Given the description of an element on the screen output the (x, y) to click on. 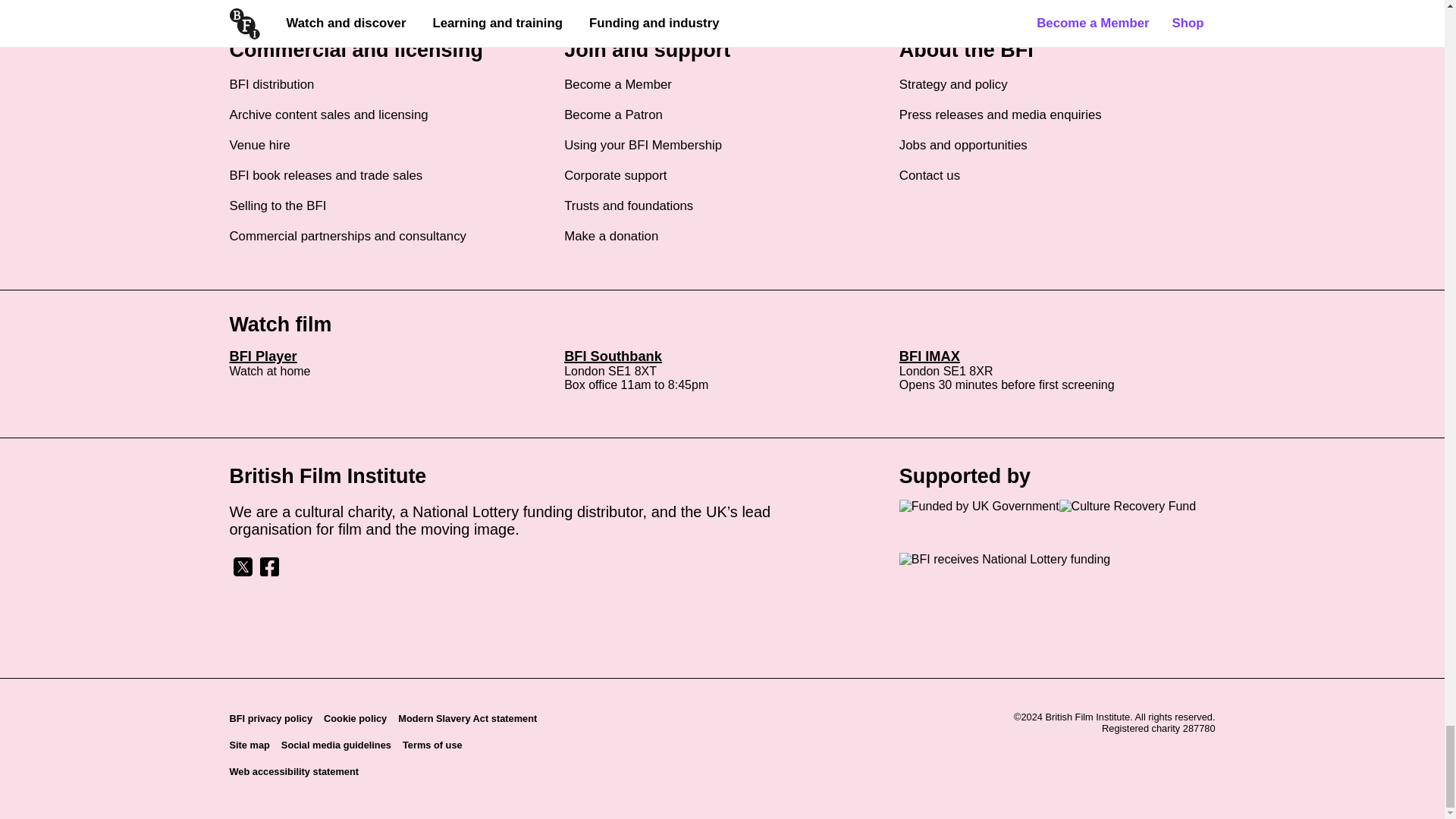
LinkedIn (322, 566)
Archive content sales and licensing (328, 114)
Selling to the BFI (277, 206)
Using your BFI Membership (643, 145)
Make a donation (611, 236)
View our YouTube (347, 572)
YouTube (347, 566)
Become a Member (617, 84)
View our Facebook (269, 572)
Become a Patron (613, 114)
